Given the description of an element on the screen output the (x, y) to click on. 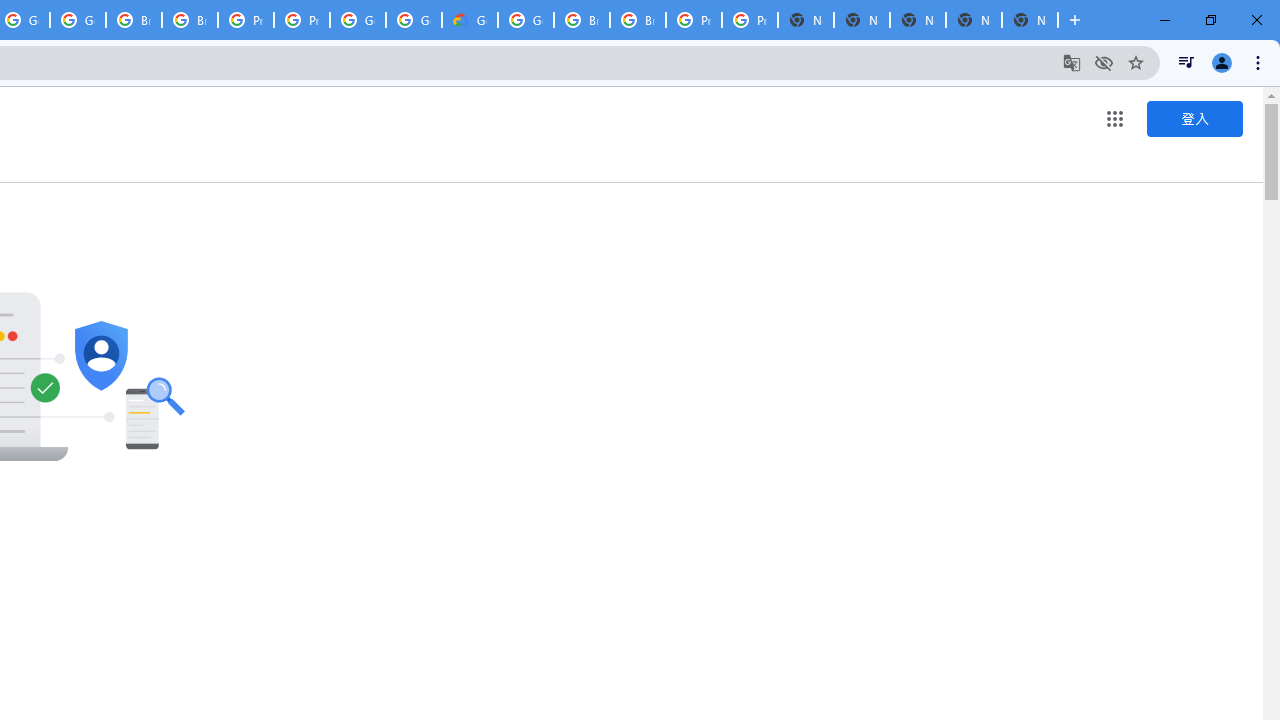
New Tab (1030, 20)
Google Cloud Platform (525, 20)
Browse Chrome as a guest - Computer - Google Chrome Help (134, 20)
